Given the description of an element on the screen output the (x, y) to click on. 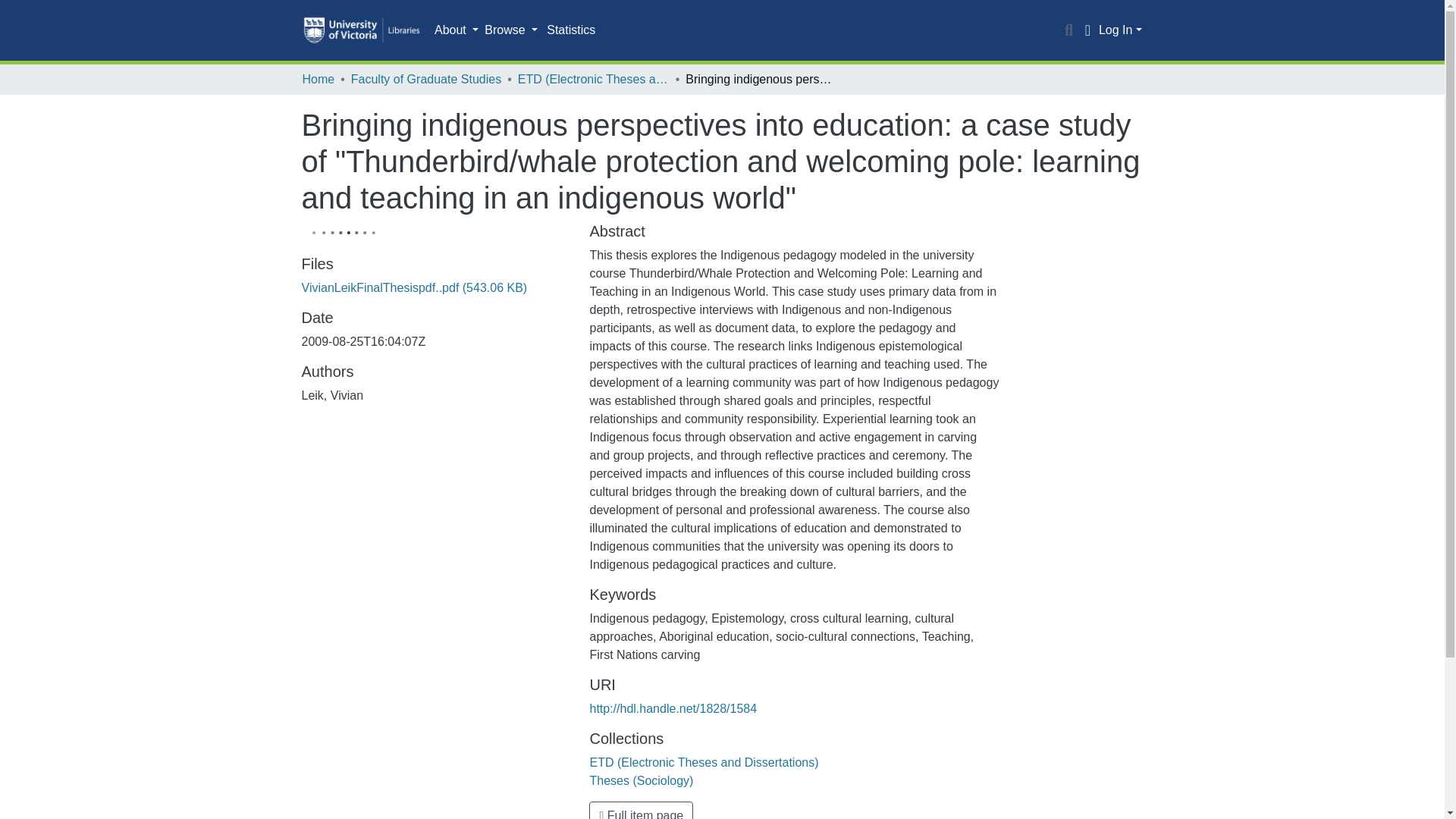
Browse (510, 30)
Faculty of Graduate Studies (425, 79)
Language switch (1087, 30)
About (455, 30)
Statistics (570, 30)
Home (317, 79)
Search (1068, 30)
Statistics (570, 30)
Full item page (641, 810)
Log In (1119, 29)
